Given the description of an element on the screen output the (x, y) to click on. 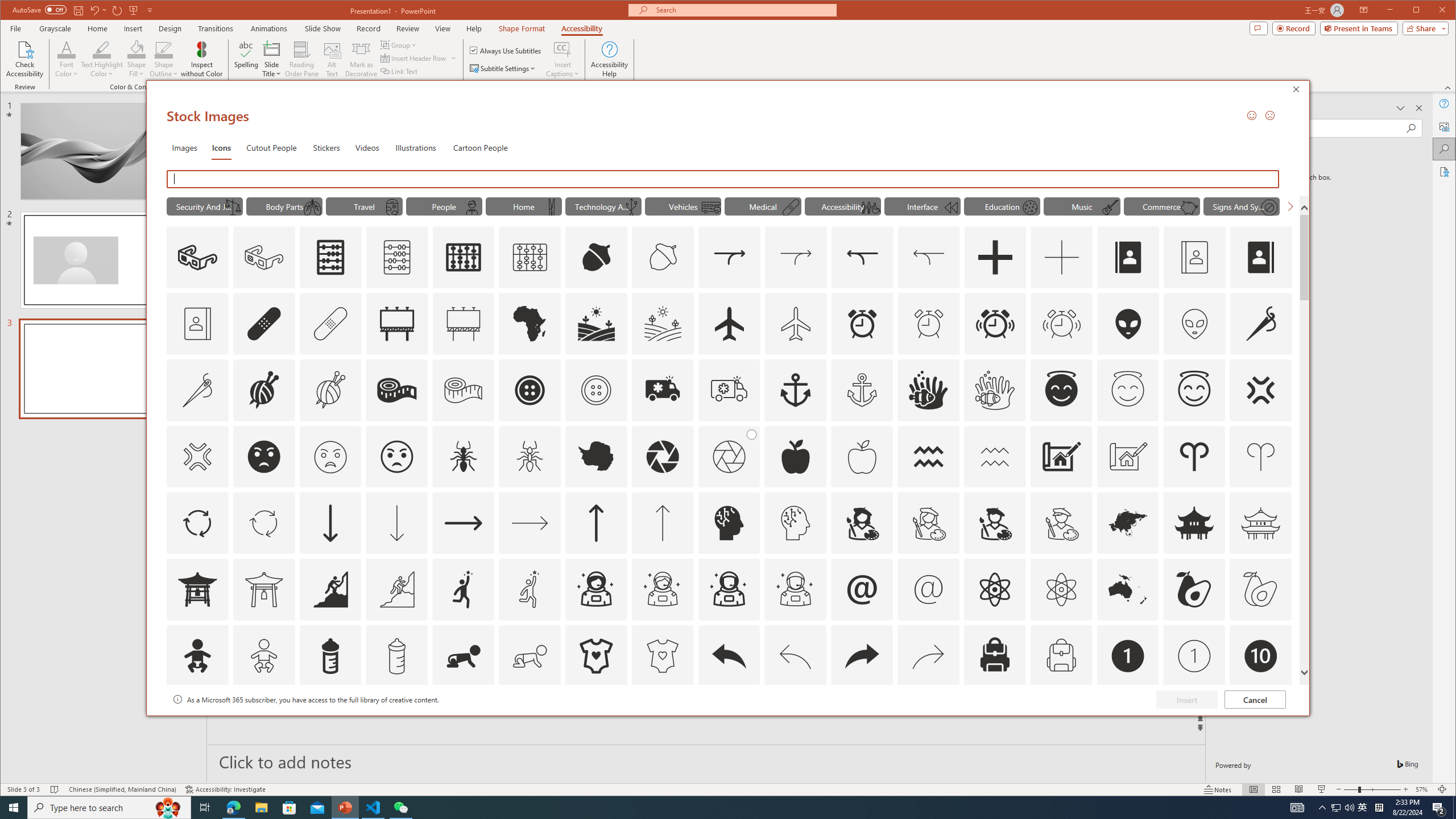
WeChat - 1 running window (400, 807)
Slide Notes (706, 761)
Illustrations (415, 147)
Inspect without Color (201, 59)
AutomationID: Icons_AddressBook_LTR (1128, 256)
AutomationID: Icons_Antarctica (595, 456)
AutomationID: Icons_AngelFace_M (1128, 389)
AutomationID: Icons_Advertising (397, 323)
AutomationID: Icons_Badge6_M (861, 721)
